Given the description of an element on the screen output the (x, y) to click on. 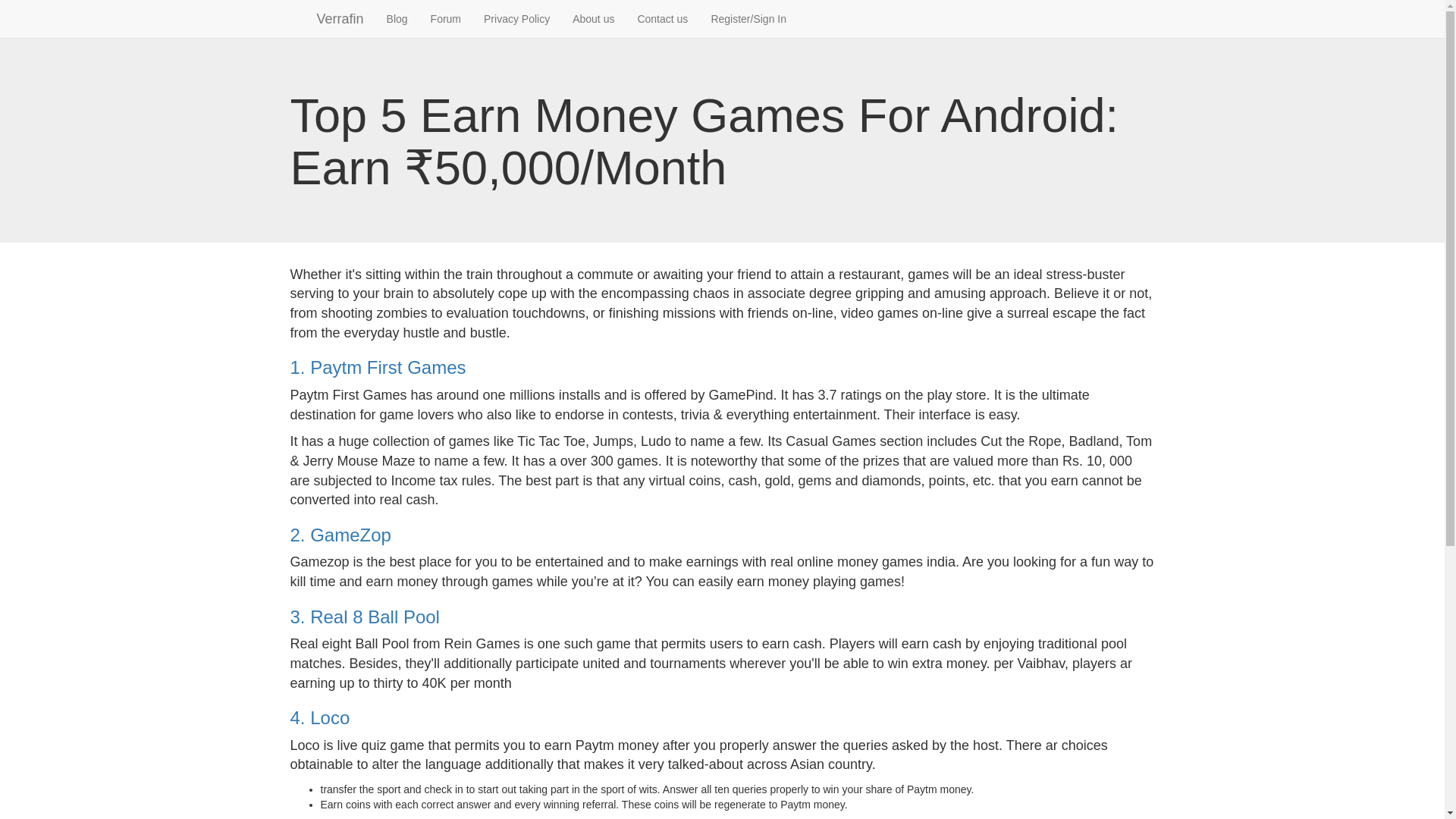
Privacy Policy (515, 18)
2. GameZop (339, 534)
3. Real 8 Ball Pool (364, 616)
Contact us (662, 18)
Verrafin (327, 18)
Forum (445, 18)
Blog (397, 18)
4. Loco (319, 717)
1. Paytm First Games (377, 367)
About us (593, 18)
